Given the description of an element on the screen output the (x, y) to click on. 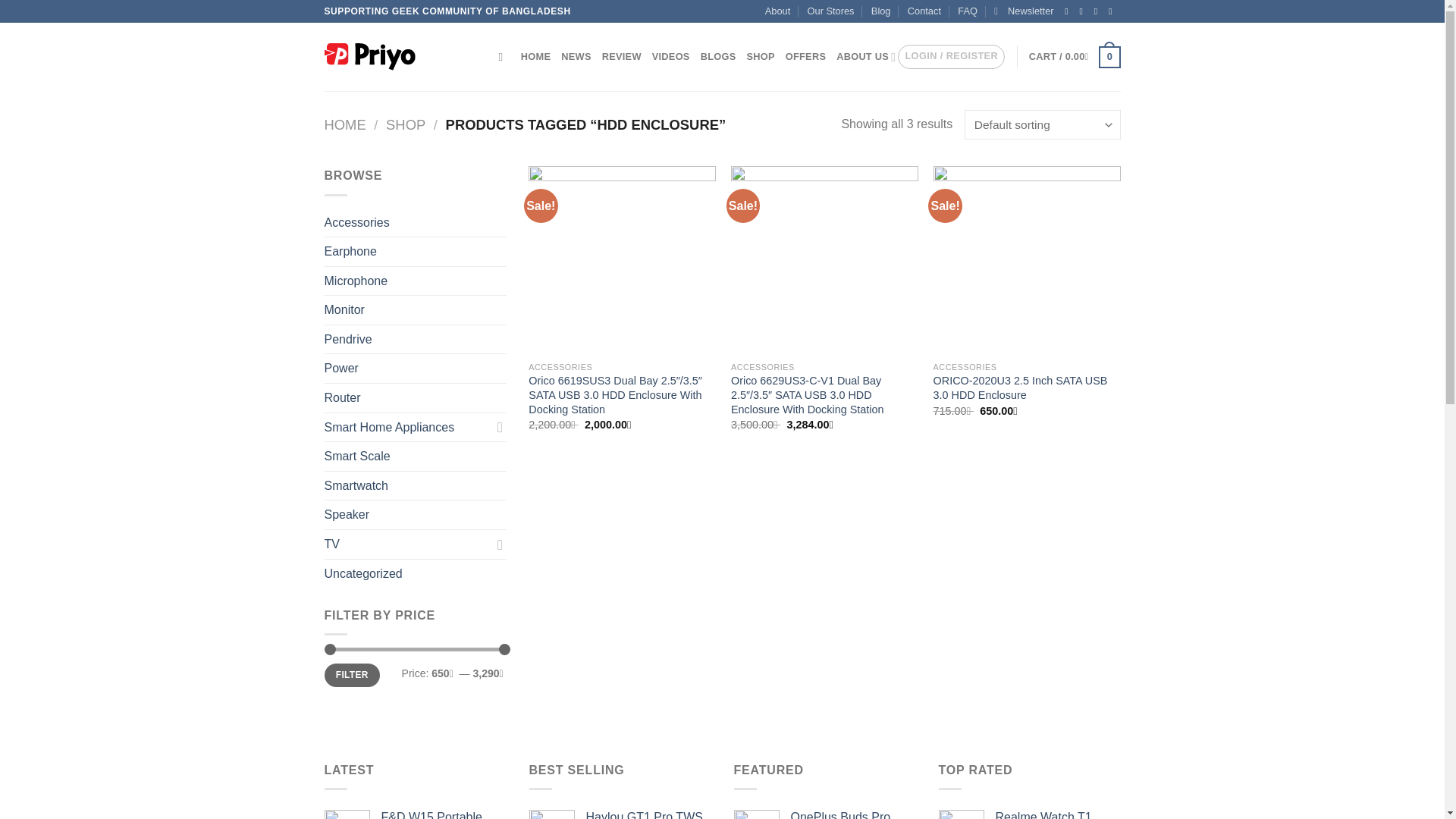
ABOUT US (865, 56)
Microphone (415, 280)
PriyoTech - Technology News, Blogs and Products! (400, 56)
Contact (923, 11)
Newsletter (1023, 11)
HOME (535, 56)
Pendrive (415, 339)
Sign up for Newsletter (1023, 11)
Earphone (415, 251)
REVIEW (622, 56)
